Given the description of an element on the screen output the (x, y) to click on. 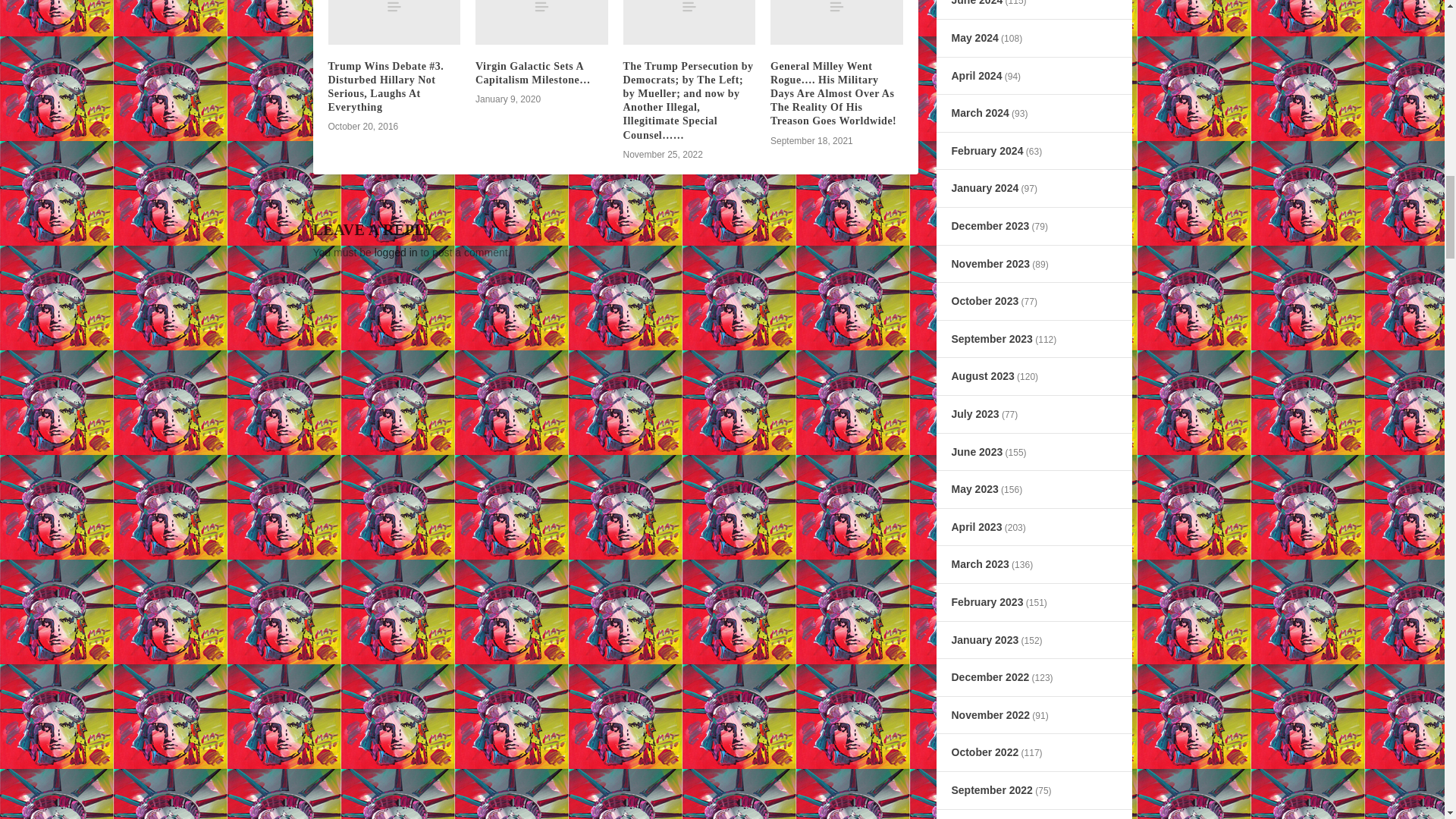
logged in (395, 252)
